Given the description of an element on the screen output the (x, y) to click on. 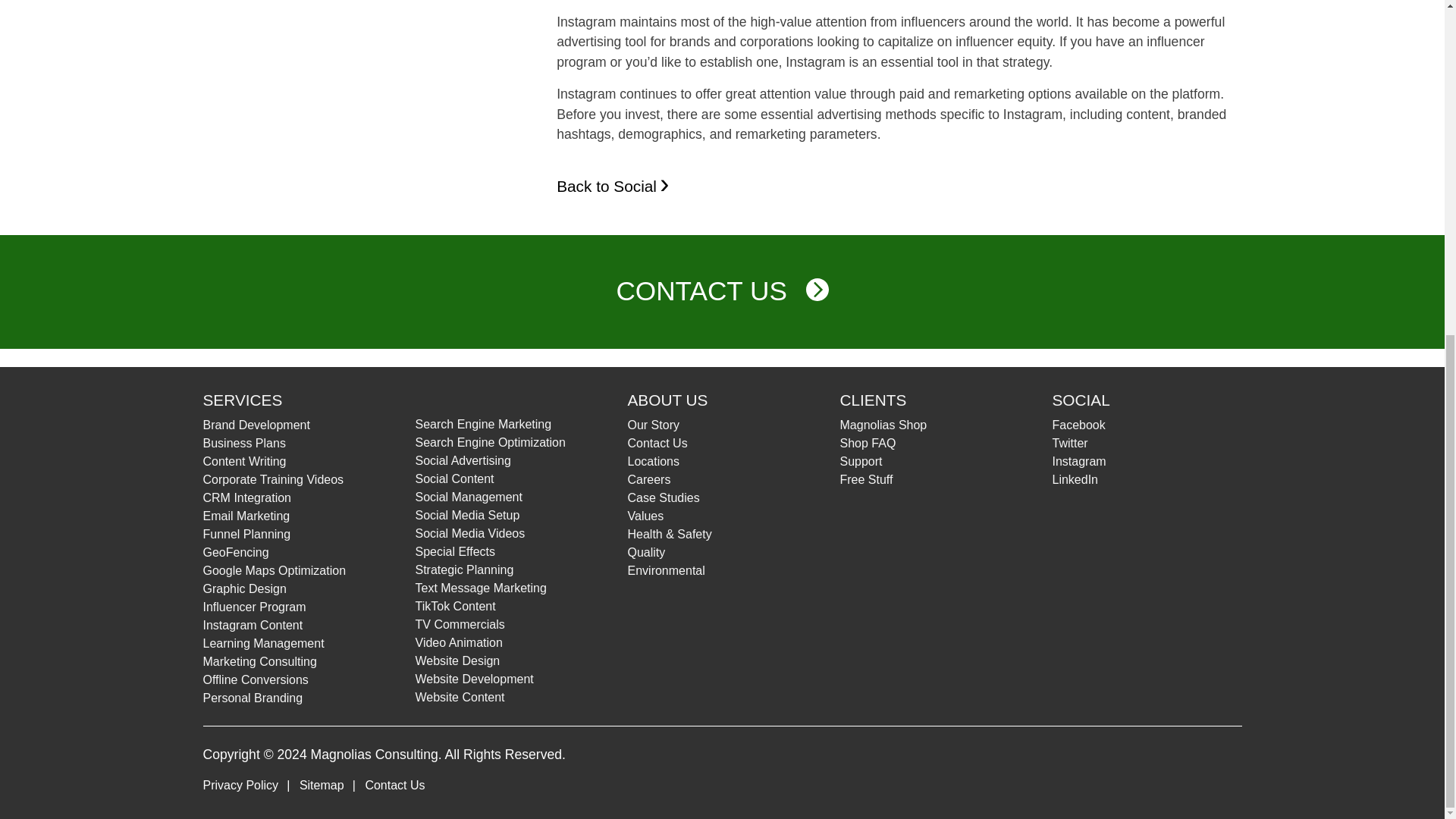
Business Plans (244, 442)
Brand Development (256, 424)
Social Media Videos (469, 533)
CIRCLE-RIGHT-CHEVRON (817, 289)
CRM Integration (247, 497)
Offline Conversions (255, 679)
Text Message Marketing (480, 587)
Marketing Consulting (260, 661)
GeoFencing (236, 552)
Graphic Design (244, 588)
Social Advertising (462, 460)
Social Media Setup (466, 514)
Social Content (454, 478)
Corporate Training Videos (273, 479)
Influencer Program (254, 606)
